Given the description of an element on the screen output the (x, y) to click on. 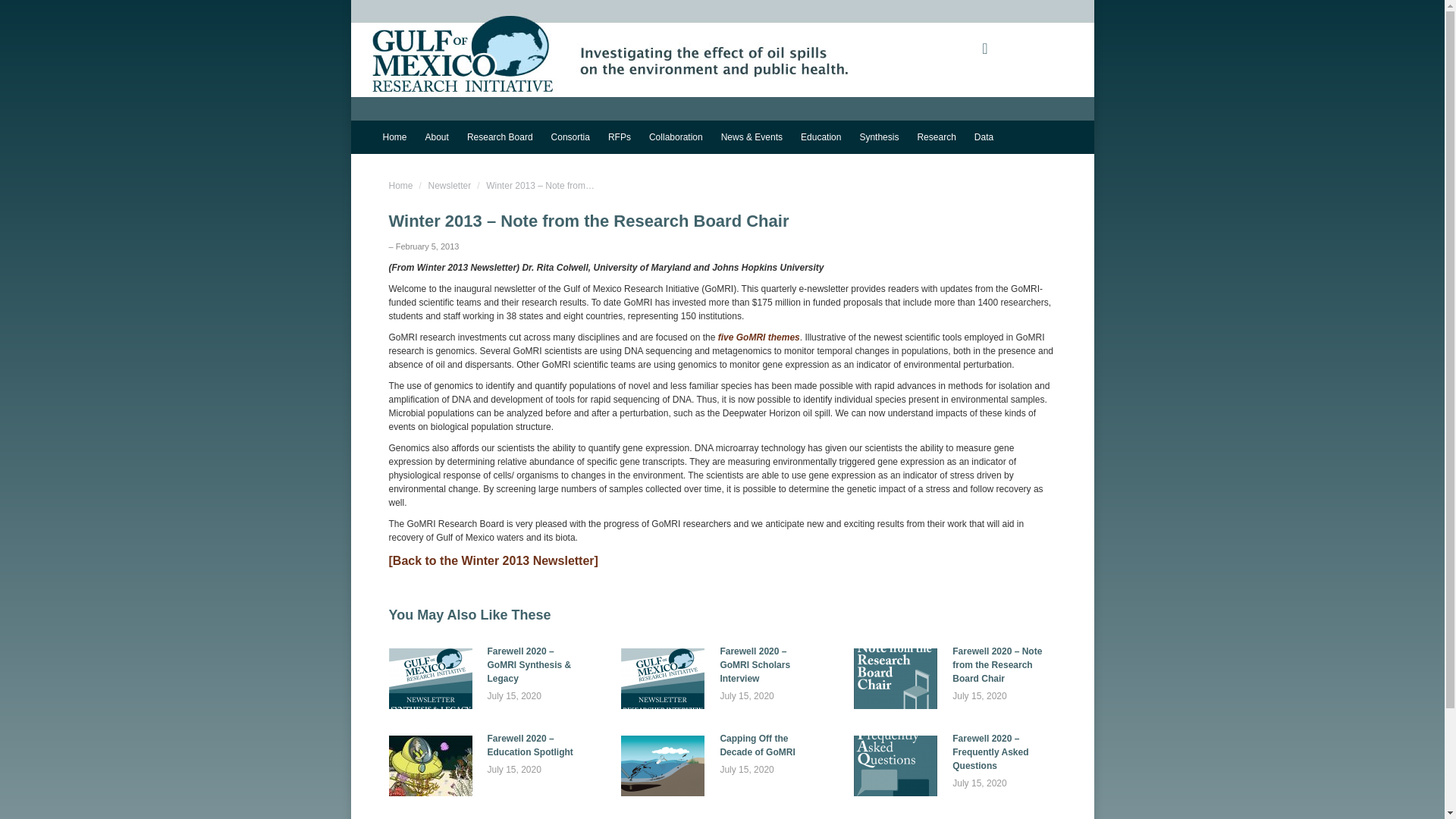
Consortia (569, 136)
Home (393, 136)
Research Board (499, 136)
Go! (24, 16)
Home (400, 185)
RFPs (619, 136)
Newsletter (449, 185)
About (437, 136)
